Given the description of an element on the screen output the (x, y) to click on. 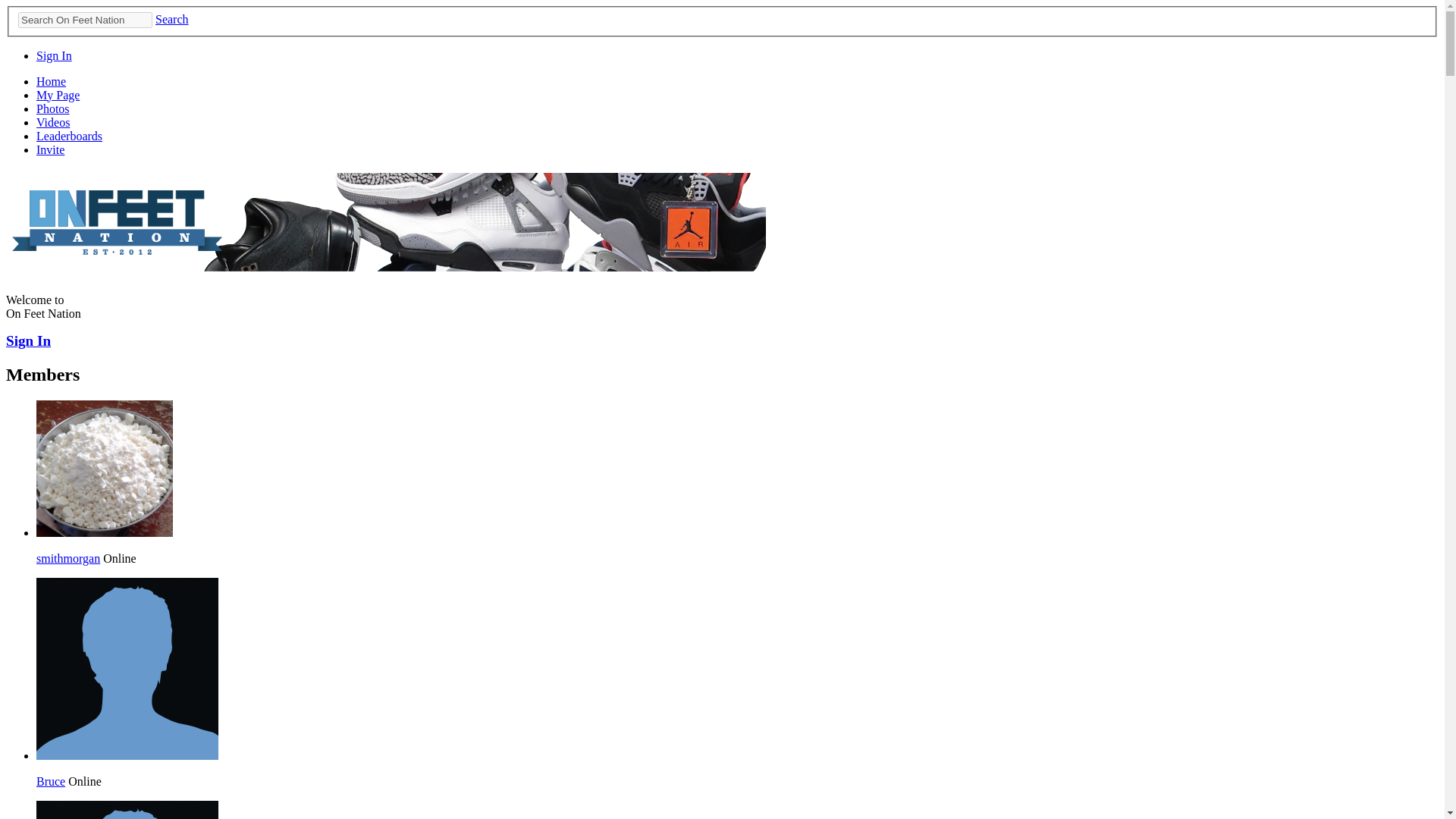
smithmorgan (104, 532)
smithmorgan (68, 558)
Search On Feet Nation (84, 19)
Sign In (53, 55)
Bruce (50, 780)
Videos (52, 122)
Sign In (27, 340)
My Page (58, 94)
Invite (50, 149)
Search On Feet Nation (84, 19)
Search (172, 19)
Home (50, 81)
Bruce (127, 755)
Photos (52, 108)
Leaderboards (68, 135)
